Given the description of an element on the screen output the (x, y) to click on. 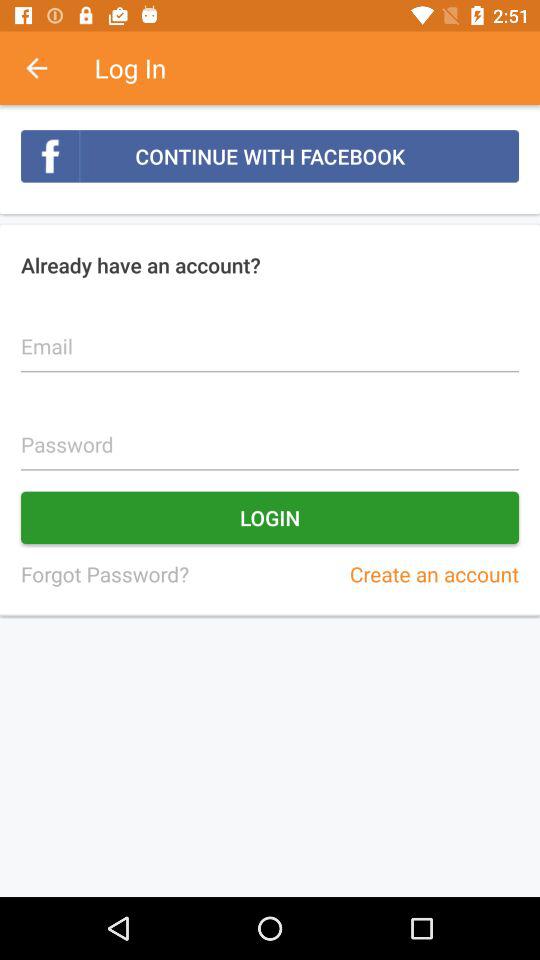
launch the icon next to log in item (47, 68)
